Given the description of an element on the screen output the (x, y) to click on. 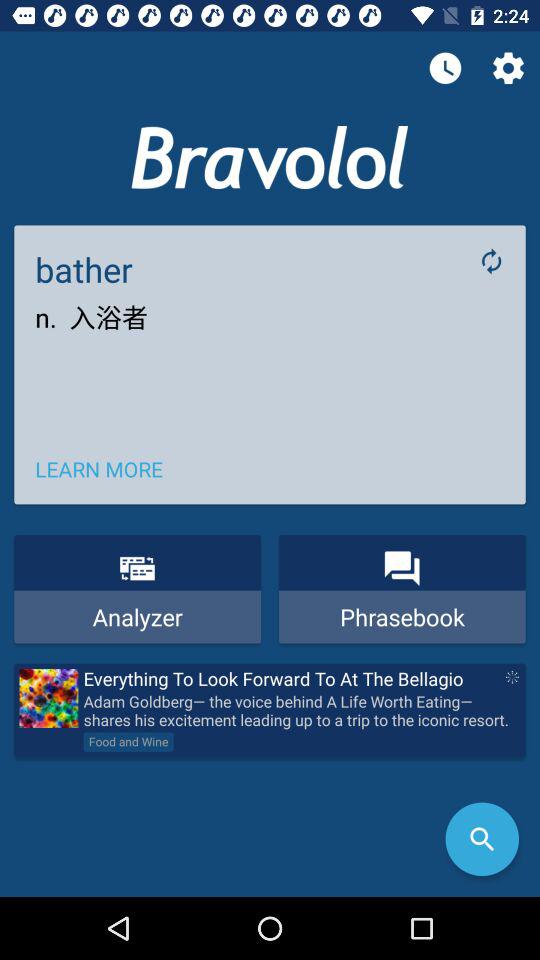
search app info (482, 839)
